Given the description of an element on the screen output the (x, y) to click on. 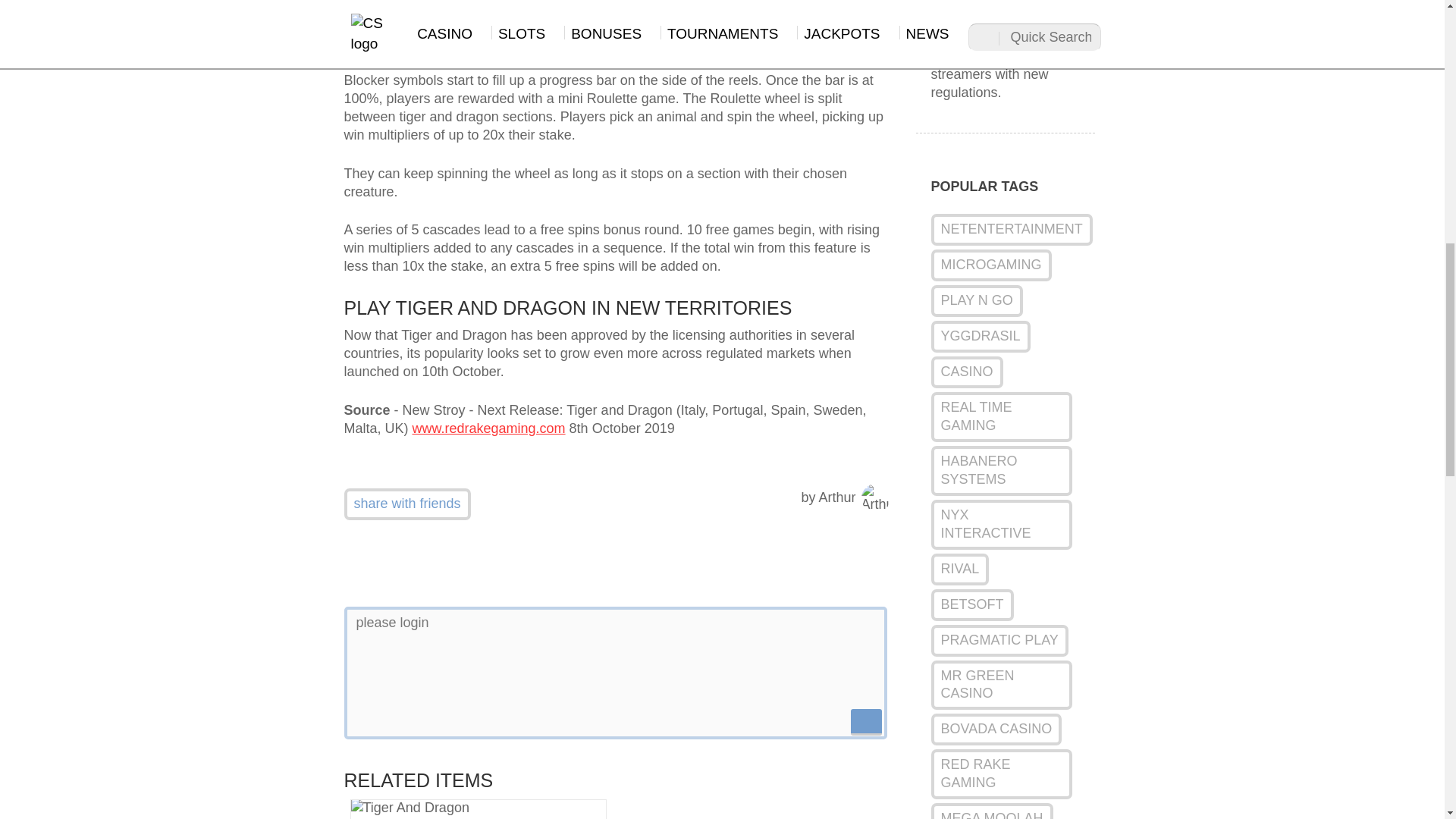
www.redrakegaming.com (489, 427)
